Given the description of an element on the screen output the (x, y) to click on. 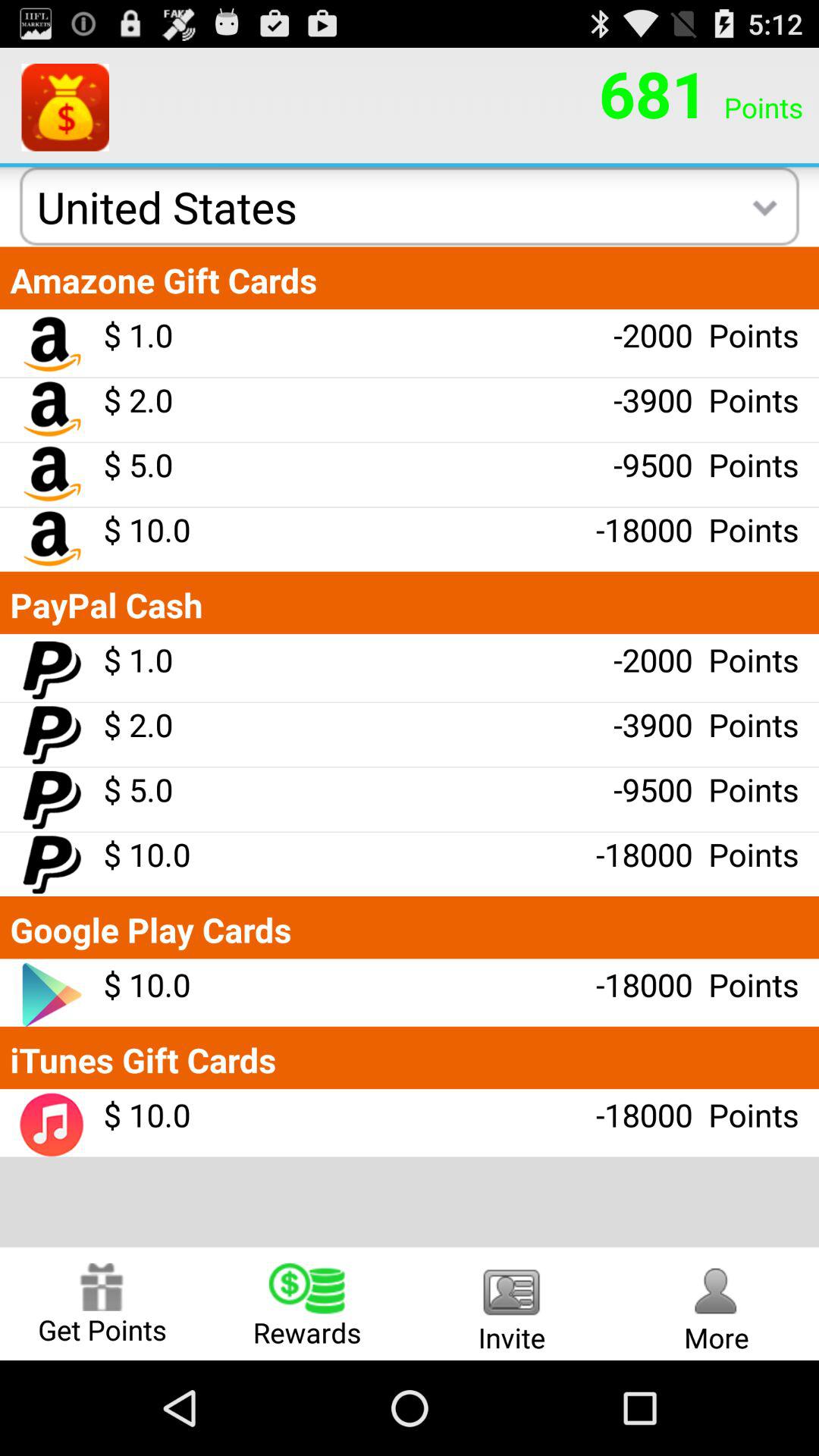
open the radio button to the right of the invite radio button (716, 1303)
